Given the description of an element on the screen output the (x, y) to click on. 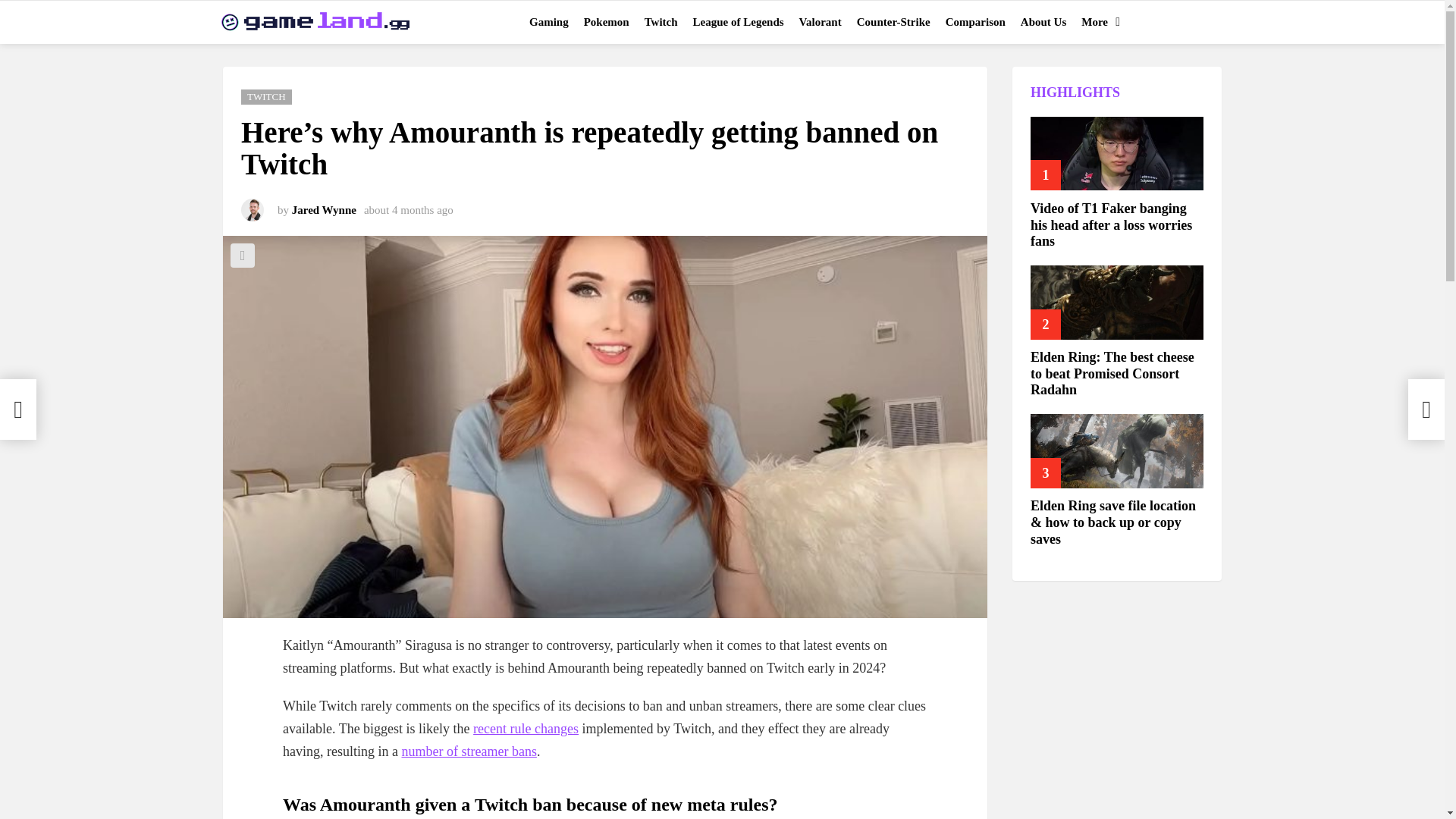
Video of T1 Faker banging his head after a loss worries fans (1117, 153)
Comparison (975, 21)
Counter-Strike (892, 21)
Elden Ring: The best cheese to beat Promised Consort Radahn (1117, 302)
About Us (1043, 21)
Gaming (548, 21)
More (1096, 21)
Twitch (661, 21)
Pokemon (606, 21)
Valorant (820, 21)
Posts by Jared Wynne (324, 209)
League of Legends (738, 21)
